Given the description of an element on the screen output the (x, y) to click on. 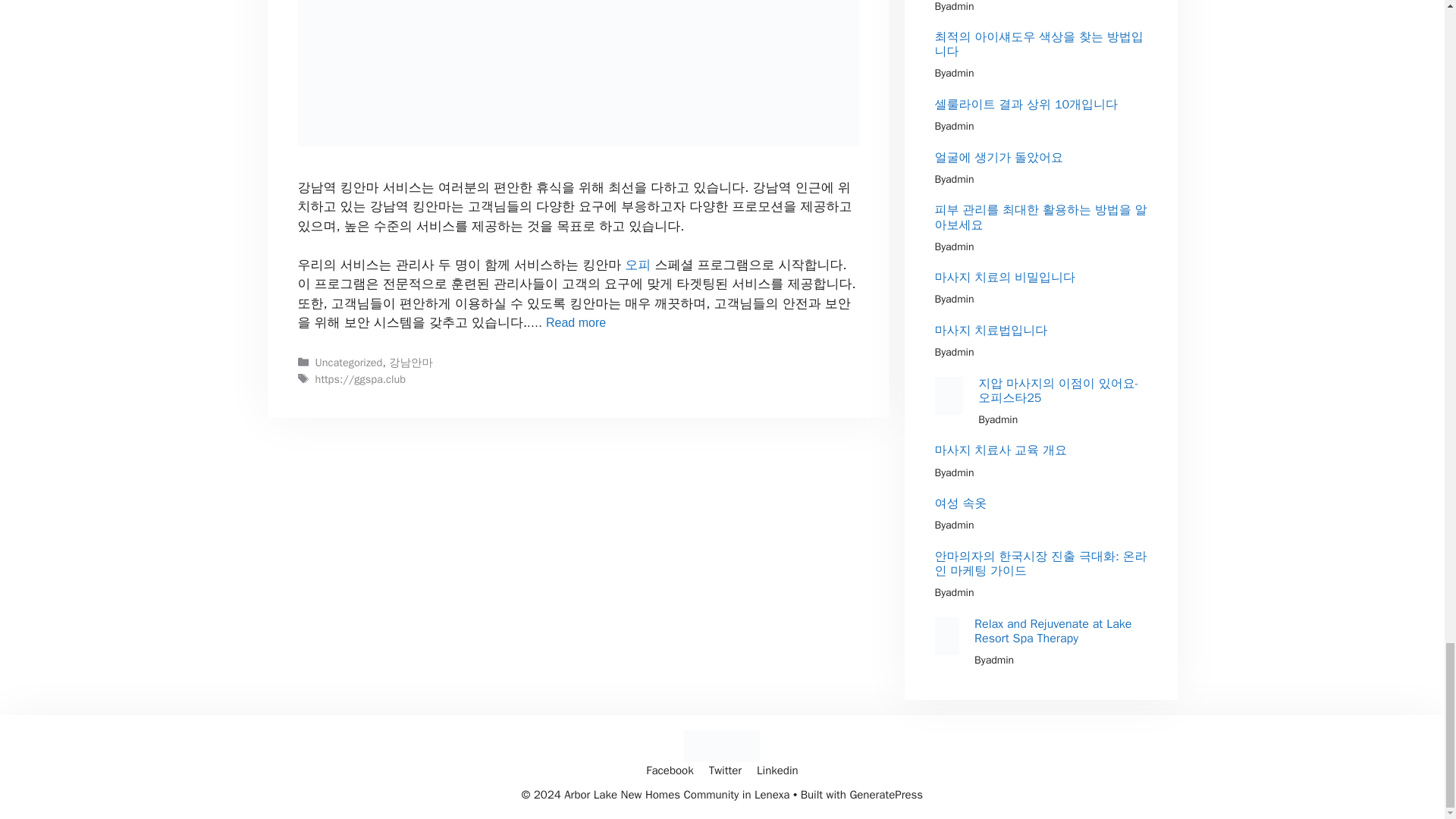
peak (722, 746)
Read more (575, 322)
Facebook (669, 770)
Relax and Rejuvenate at Lake Resort Spa Therapy (1052, 631)
Uncategorized (348, 362)
